Given the description of an element on the screen output the (x, y) to click on. 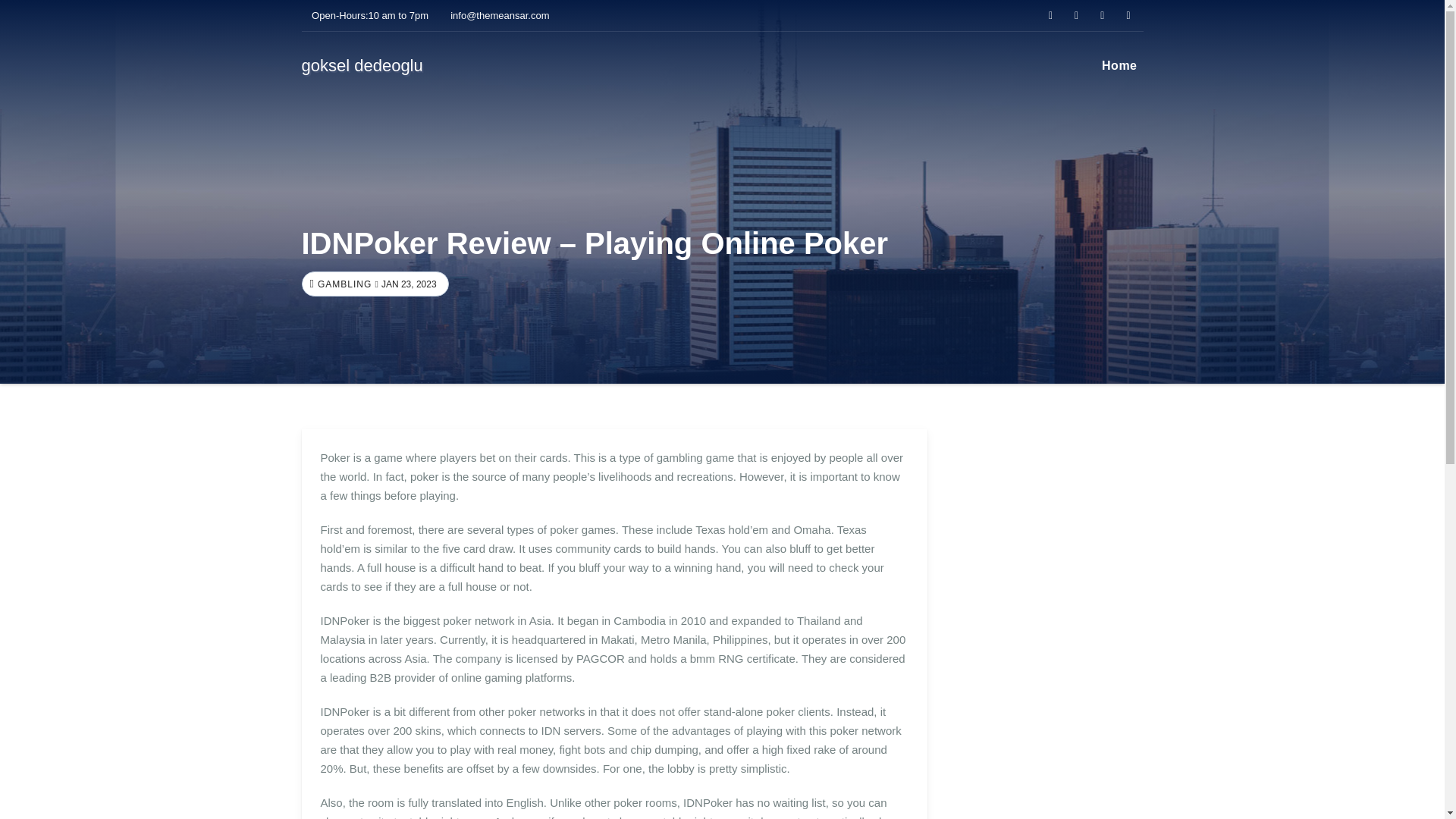
GAMBLING (342, 284)
goksel dedeoglu (362, 65)
Open-Hours:10 am to 7pm (365, 15)
